Given the description of an element on the screen output the (x, y) to click on. 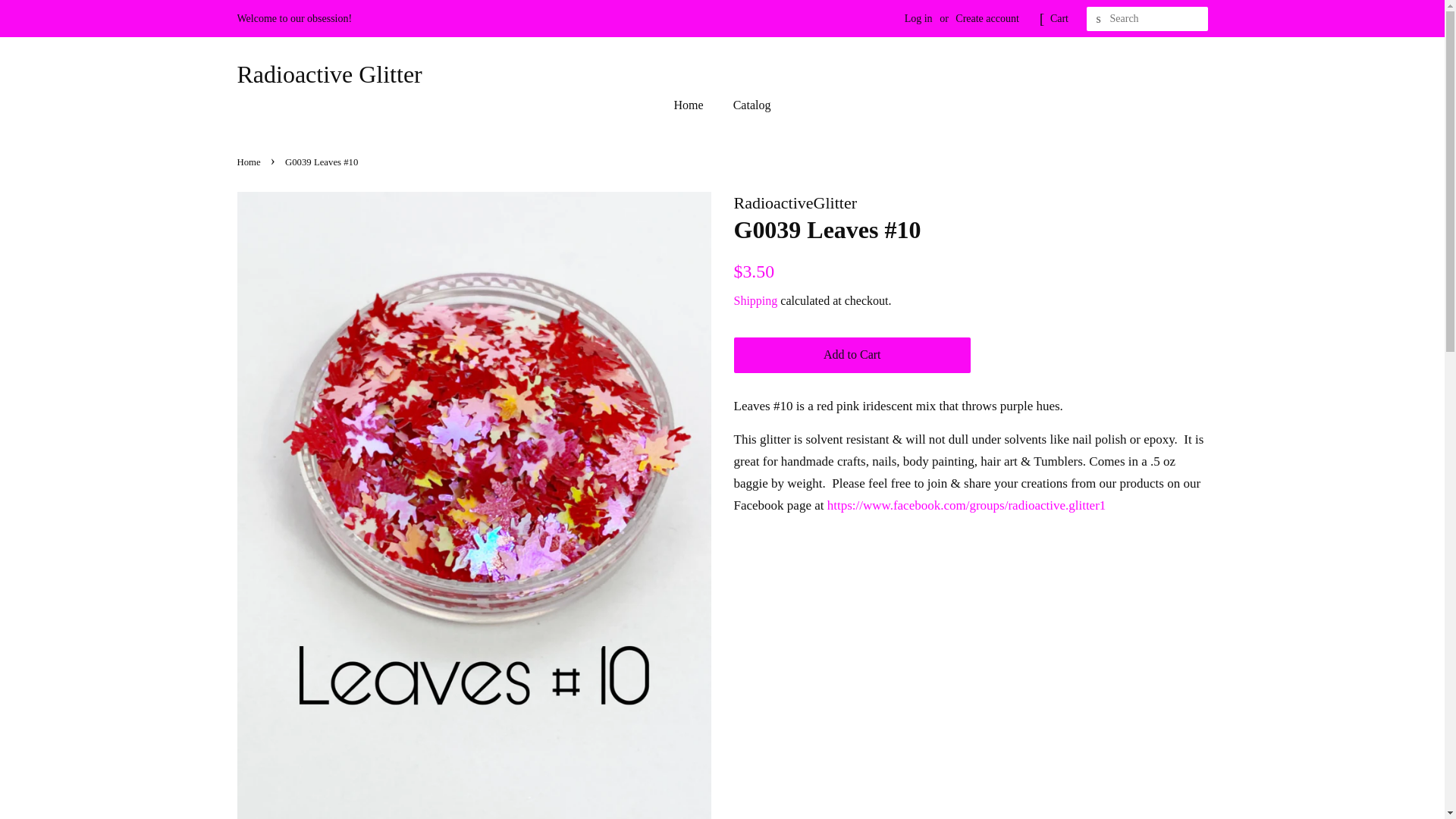
Radioactive Glitter (328, 73)
Add to Cart (852, 355)
Create account (987, 18)
Home (249, 162)
Catalog (746, 104)
Cart (1058, 18)
Log in (918, 18)
Search (1097, 18)
Shipping (755, 300)
Home (696, 104)
